Given the description of an element on the screen output the (x, y) to click on. 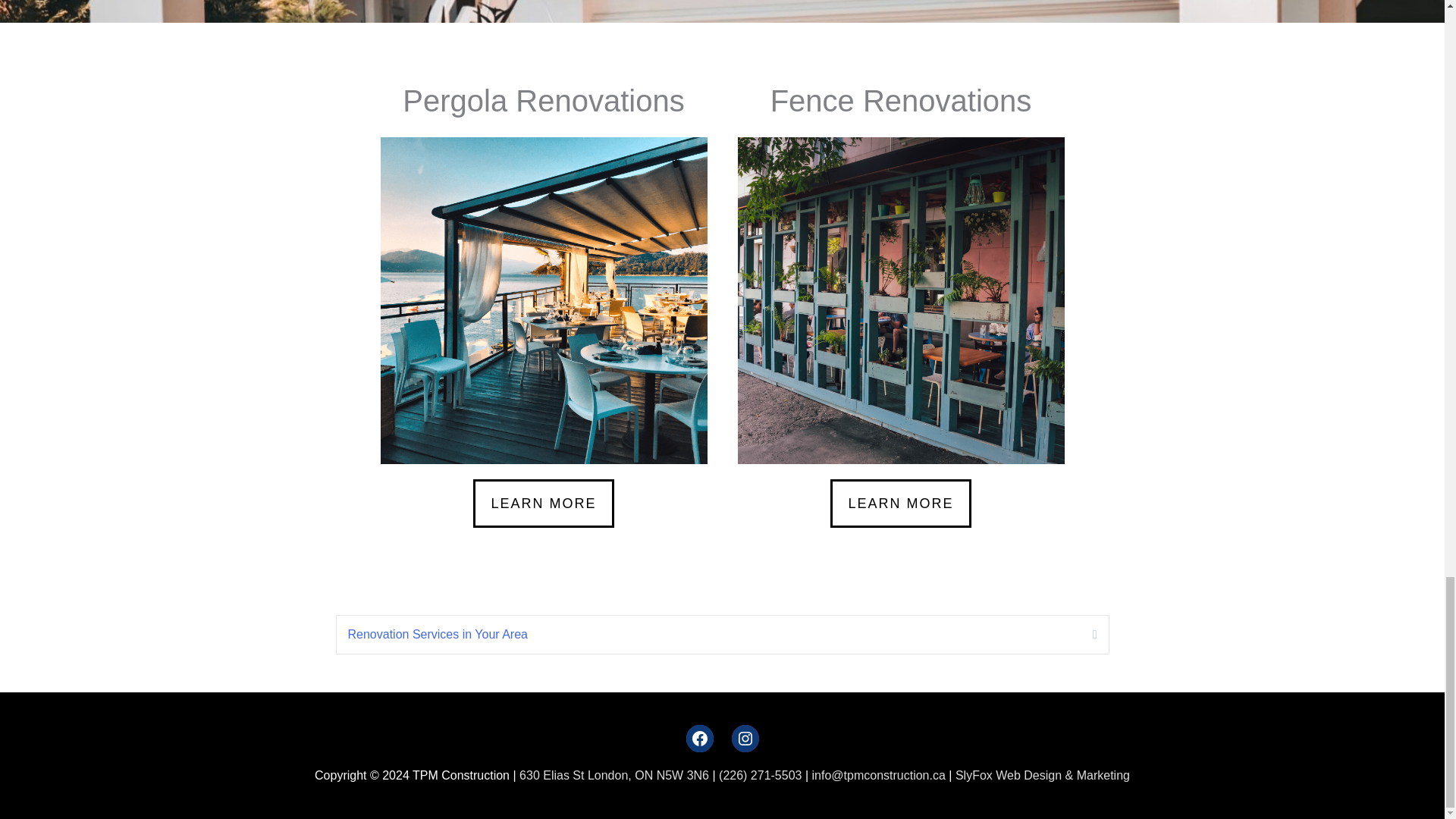
restuarant patio with wooden frame fence (900, 300)
LEARN MORE (900, 503)
Renovation Services in Your Area (707, 634)
LEARN MORE (542, 503)
Expand (1083, 634)
restuarant patio with pergola (543, 300)
